Given the description of an element on the screen output the (x, y) to click on. 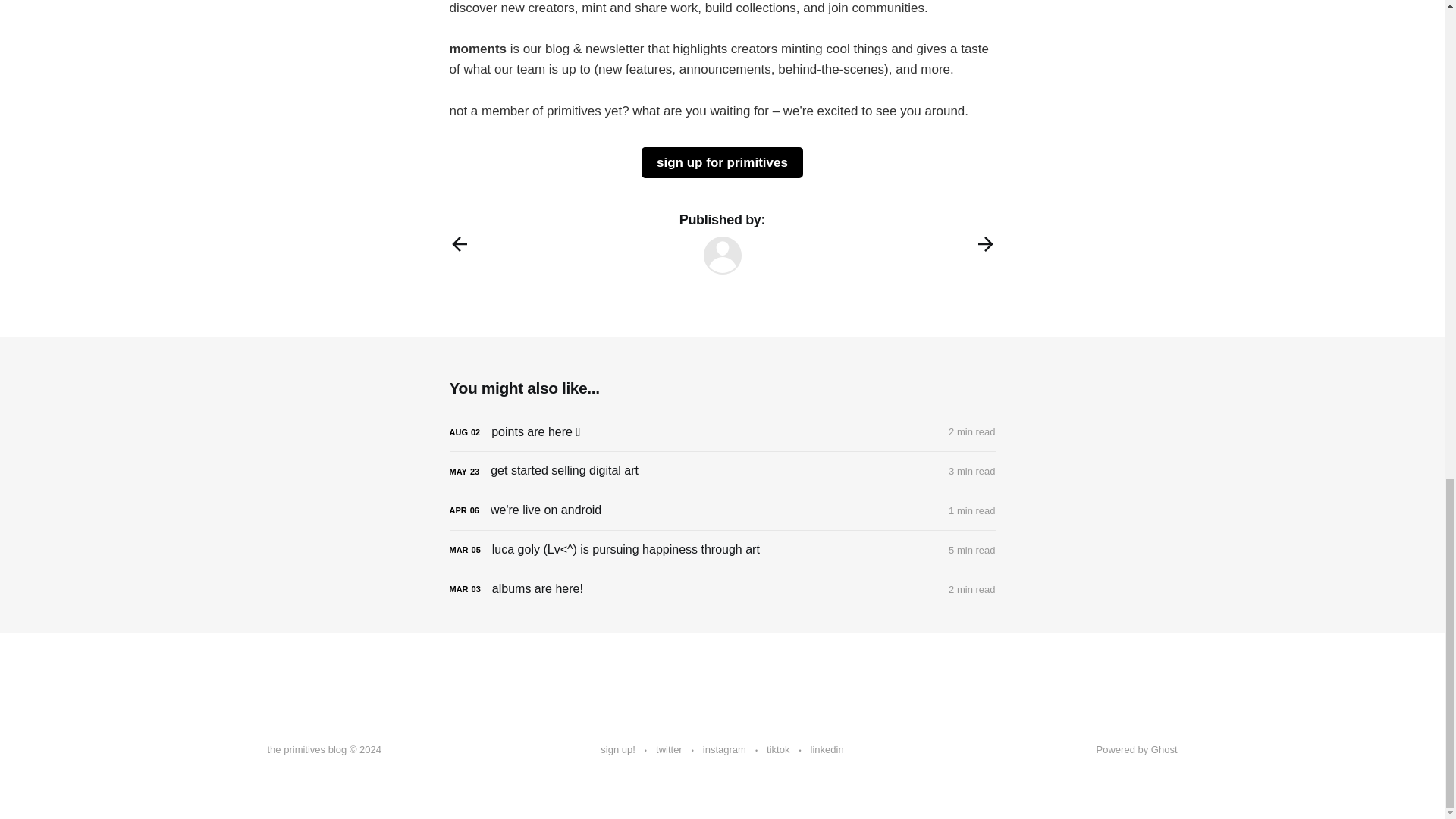
tiktok (778, 750)
sign up! (616, 750)
linkedin (827, 750)
twitter (669, 750)
Powered by Ghost (1136, 749)
sign up for primitives (722, 162)
instagram (724, 750)
